Given the description of an element on the screen output the (x, y) to click on. 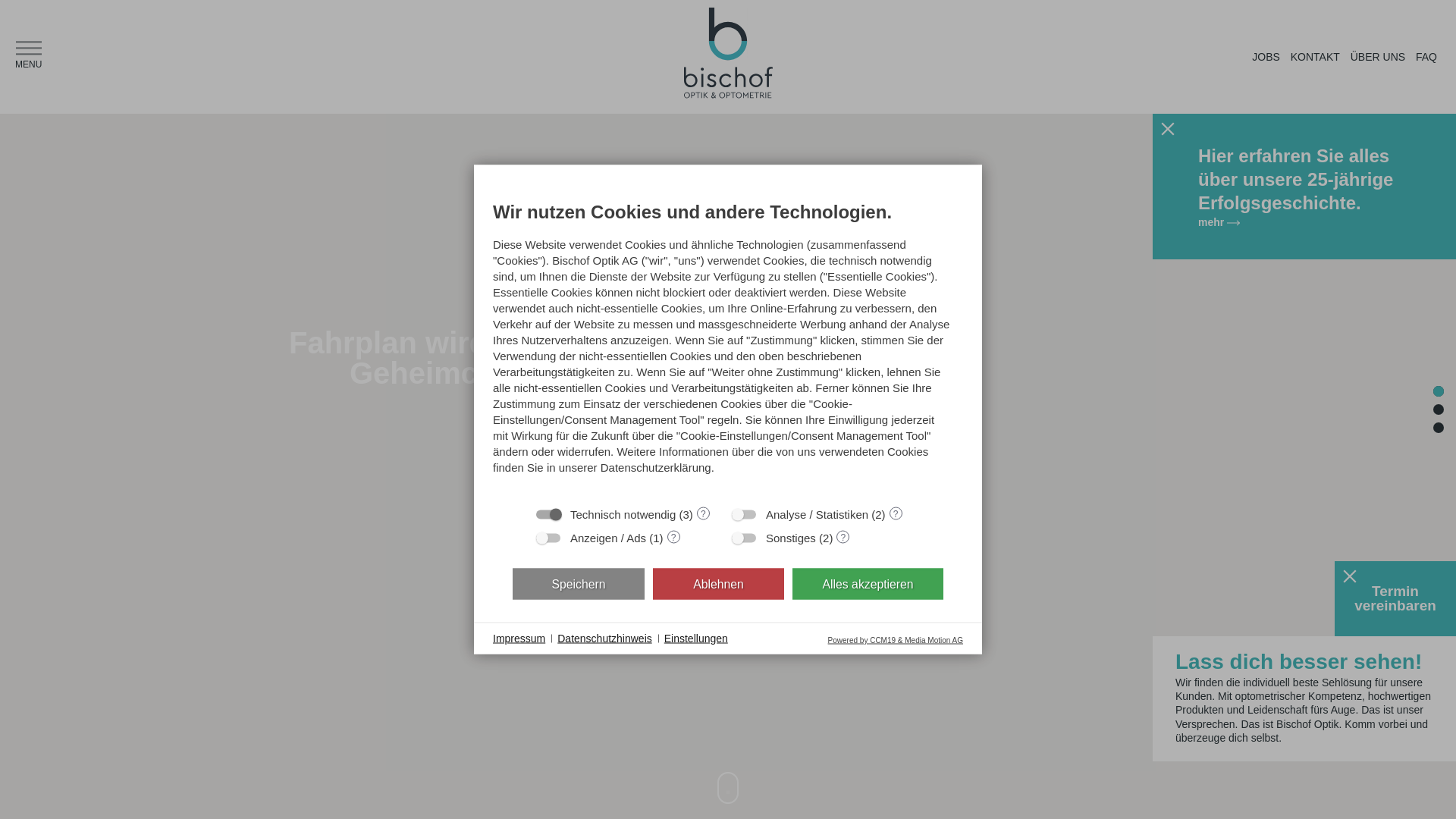
Powered by CCM19 & Media Motion AG Element type: text (895, 639)
1 Element type: text (1438, 390)
KONTAKT Element type: text (1314, 56)
2 Element type: text (1438, 409)
MENU Element type: text (28, 58)
Datenschutzhinweis Element type: text (604, 638)
Einstellungen Element type: text (696, 638)
Speichern Element type: text (578, 583)
? Element type: text (702, 512)
? Element type: text (673, 536)
Alles akzeptieren Element type: text (867, 583)
3 Element type: text (1438, 427)
FAQ Element type: text (1426, 56)
Impressum Element type: text (518, 638)
JOBS Element type: text (1265, 56)
mehr Element type: text (1304, 222)
? Element type: text (842, 536)
? Element type: text (895, 512)
Ablehnen Element type: text (718, 583)
